Given the description of an element on the screen output the (x, y) to click on. 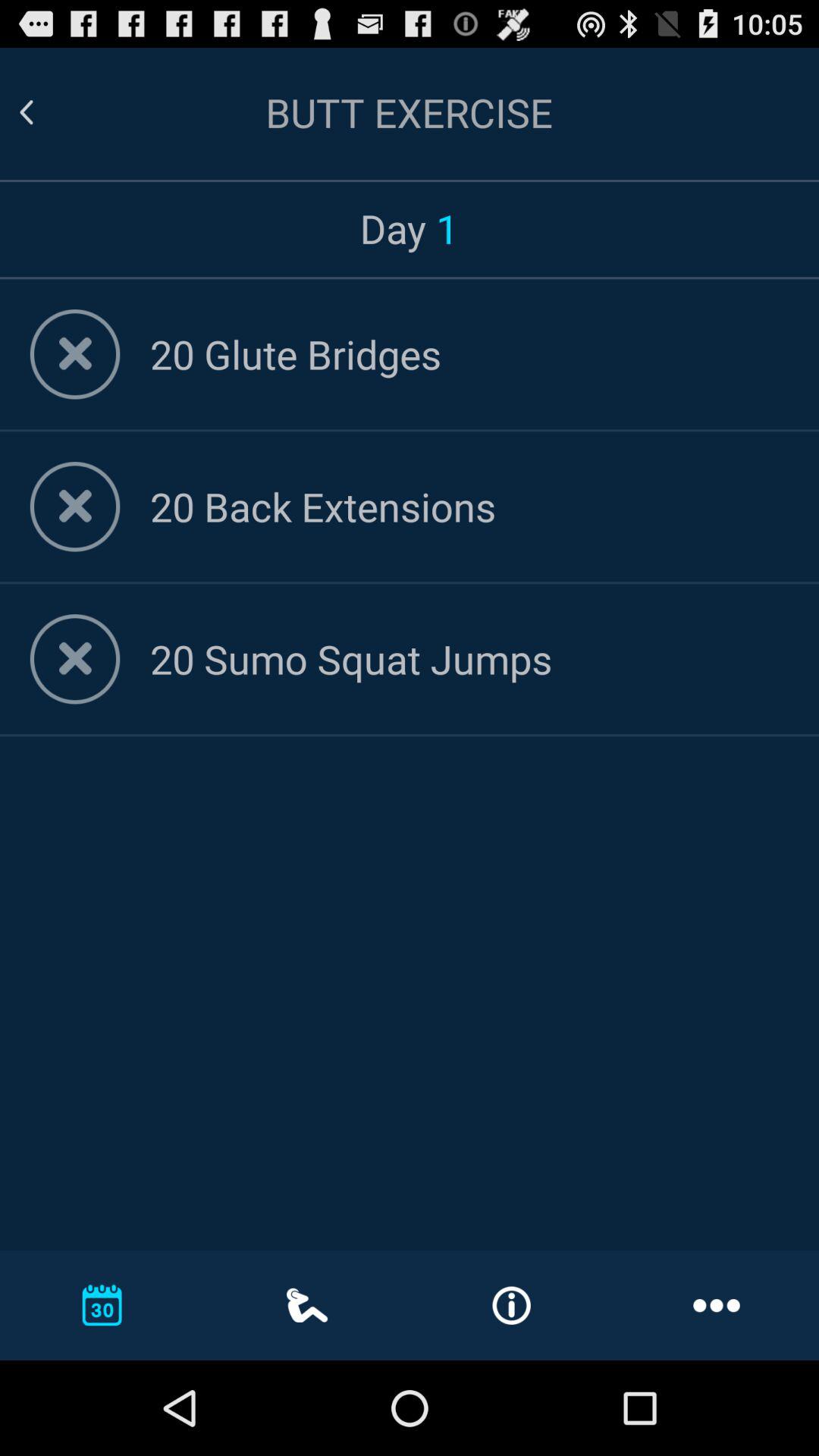
choose the 20 sumo squat (469, 658)
